Given the description of an element on the screen output the (x, y) to click on. 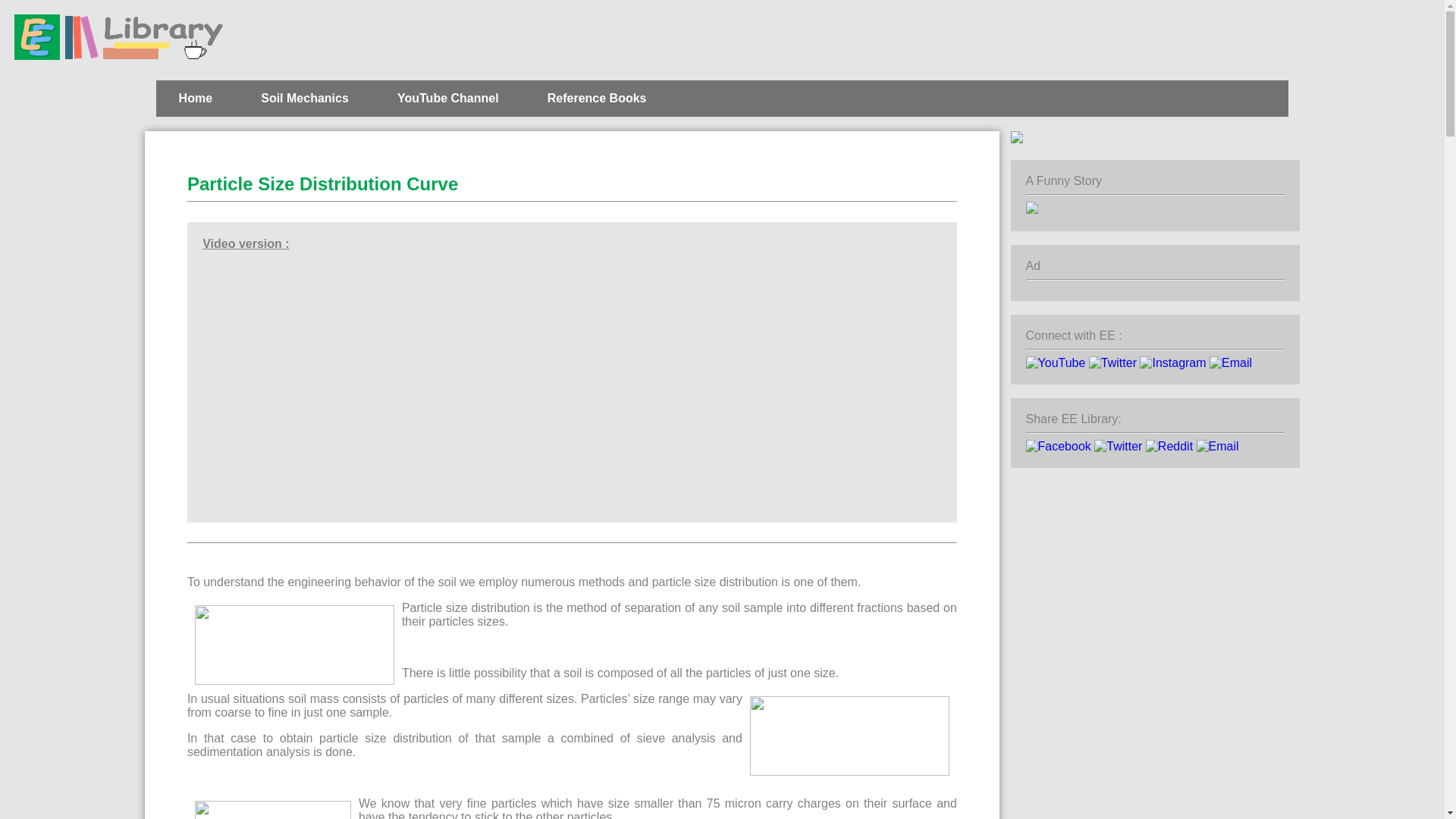
Email (1217, 446)
Instagram (1172, 363)
Home (194, 98)
Facebook (1058, 446)
YouTube (1056, 363)
Soil Mechanics (304, 98)
Twitter (1117, 446)
Email (1230, 363)
Twitter (1113, 363)
YouTube Channel (447, 98)
Reddit (1168, 446)
Reference Books (596, 98)
